Given the description of an element on the screen output the (x, y) to click on. 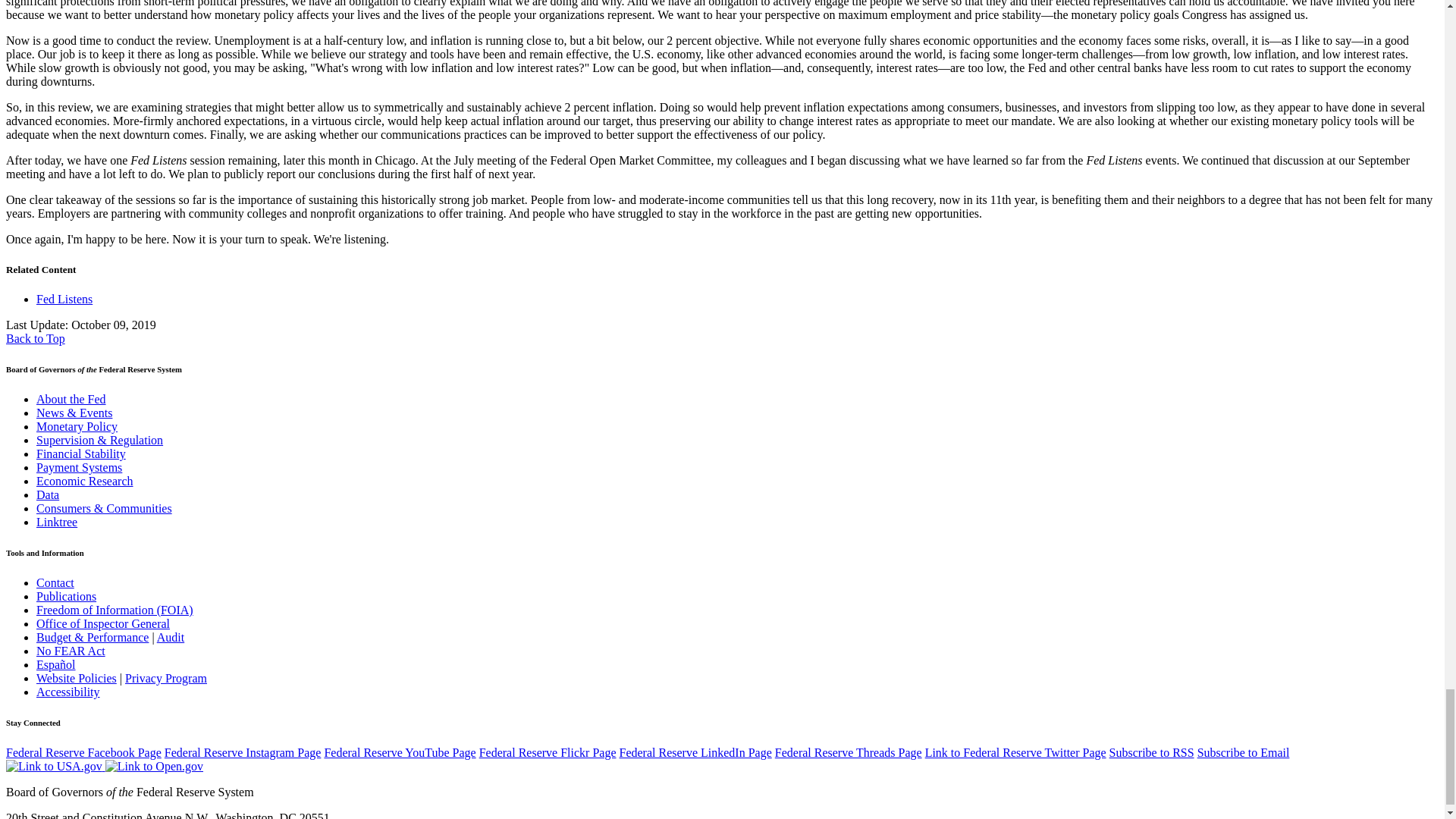
Link to Open.gov (153, 766)
Link to USA.gov (54, 766)
Scroll To Top (35, 338)
